Given the description of an element on the screen output the (x, y) to click on. 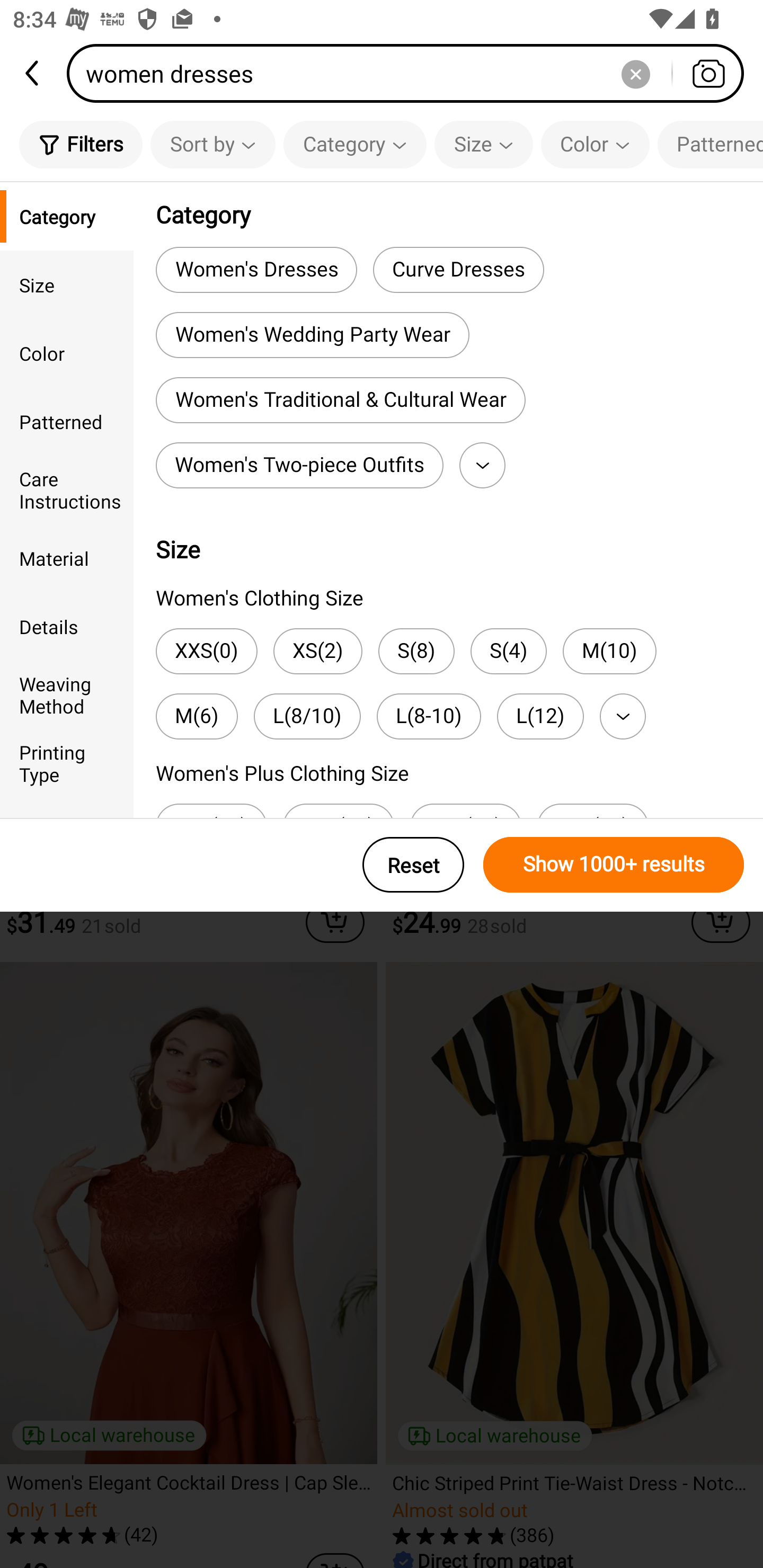
back (33, 72)
women dresses (411, 73)
Delete search history (635, 73)
Search by photo (708, 73)
Filters (80, 143)
Sort by (212, 143)
Category (354, 143)
Size (483, 143)
Color (594, 143)
Patterned (710, 143)
Category (66, 215)
Women's Dresses (256, 269)
Curve Dresses (458, 269)
Size (66, 284)
Women's Wedding Party Wear (312, 334)
Color (66, 352)
Women's Traditional & Cultural Wear (340, 400)
Patterned (66, 421)
Women's Two-piece Outfits (299, 464)
More (482, 464)
Care Instructions (66, 489)
Material (66, 557)
Details (66, 626)
XXS(0) (206, 651)
XS(2) (317, 651)
S(8) (416, 651)
S(4) (508, 651)
M(10) (609, 651)
Weaving Method (66, 694)
M(6) (196, 716)
L(8/10) (307, 716)
L(8-10) (428, 716)
L(12) (539, 716)
More (622, 716)
Printing Type (66, 762)
Reset (412, 864)
Show 1000+ results (612, 864)
